Given the description of an element on the screen output the (x, y) to click on. 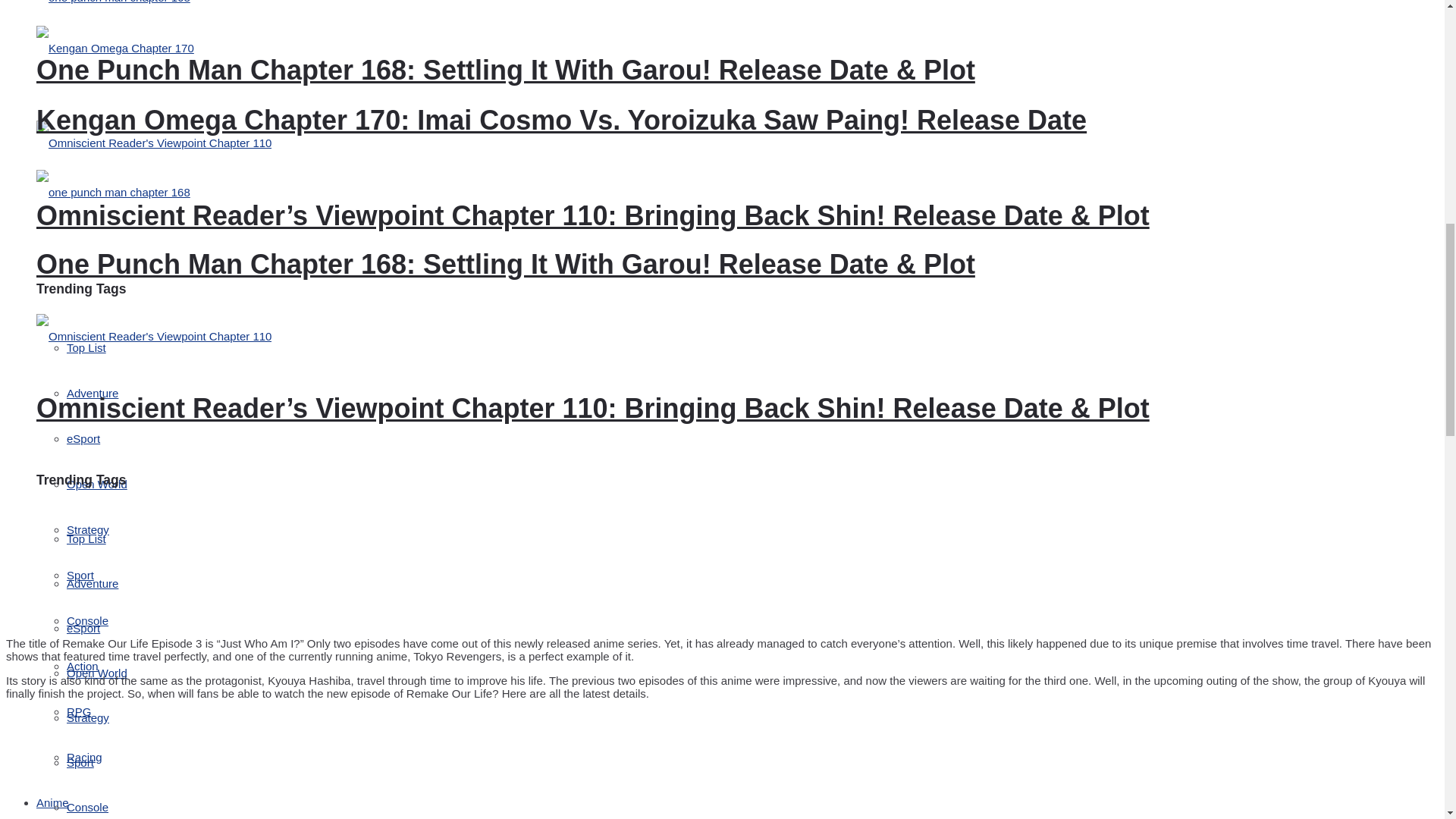
Console (86, 620)
Top List (86, 347)
Strategy (87, 529)
Action (82, 666)
eSport (83, 438)
RPG (78, 711)
Adventure (91, 392)
Open World (97, 483)
Racing (83, 757)
Sport (80, 574)
Anime (52, 802)
